Given the description of an element on the screen output the (x, y) to click on. 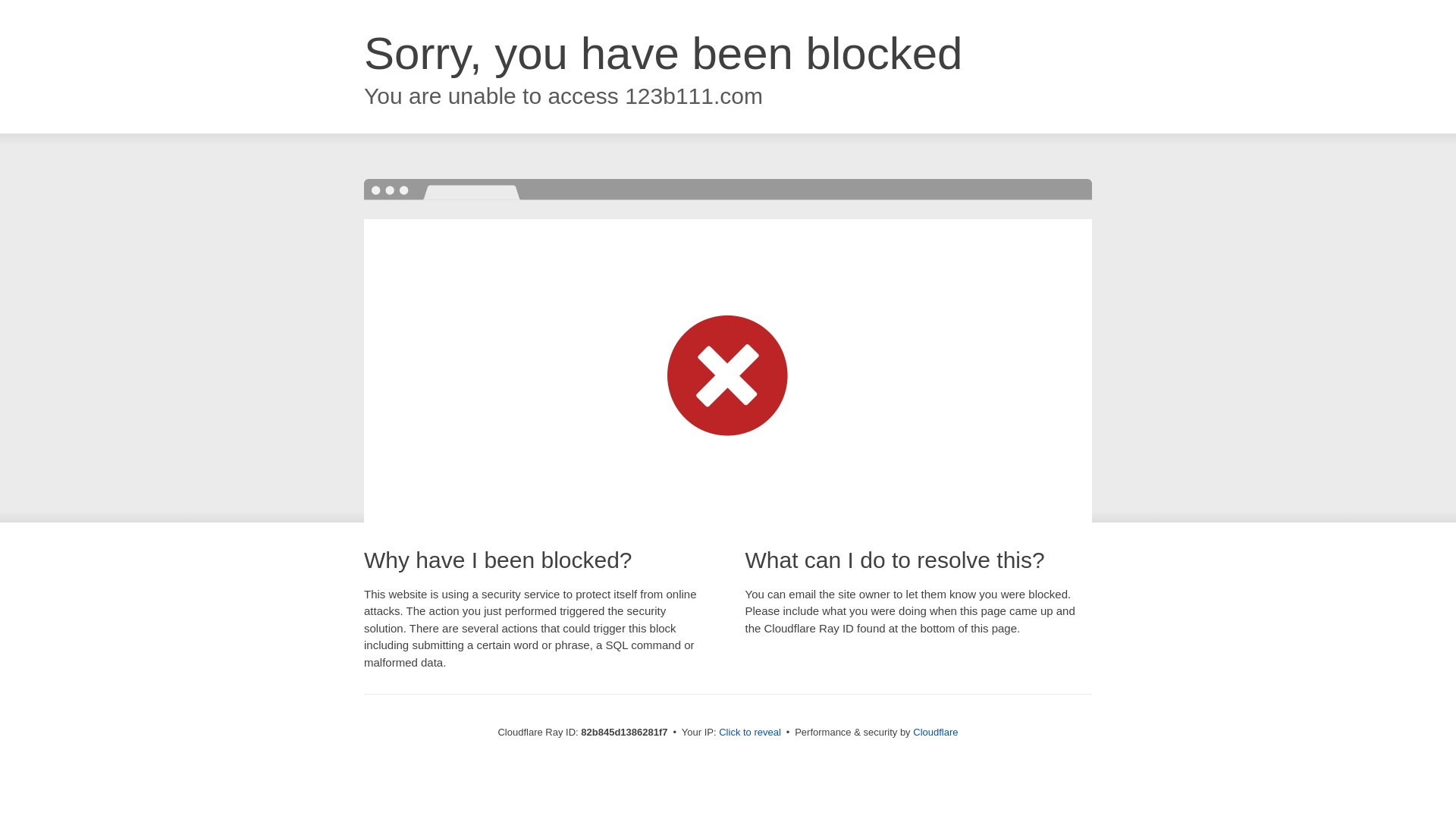
Cloudflare Element type: text (935, 731)
Click to reveal Element type: text (749, 732)
